Given the description of an element on the screen output the (x, y) to click on. 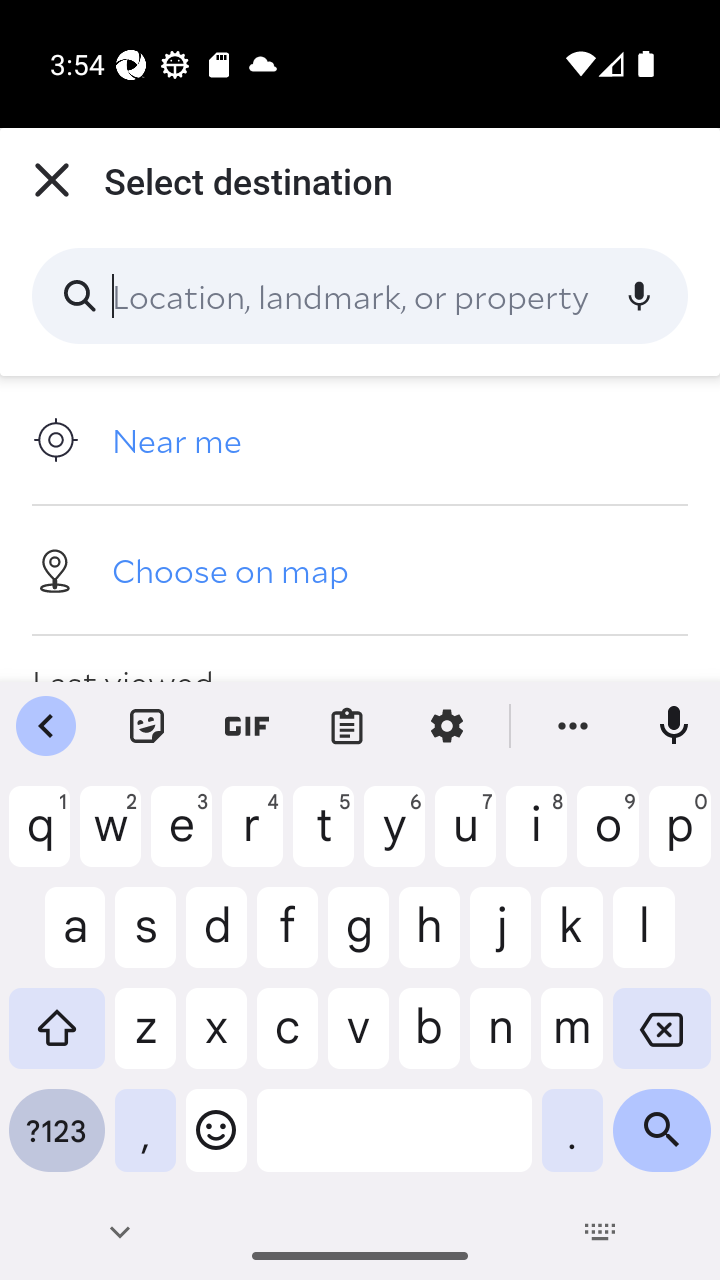
Location, landmark, or property (359, 296)
Near me (360, 440)
Choose on map (360, 569)
